Given the description of an element on the screen output the (x, y) to click on. 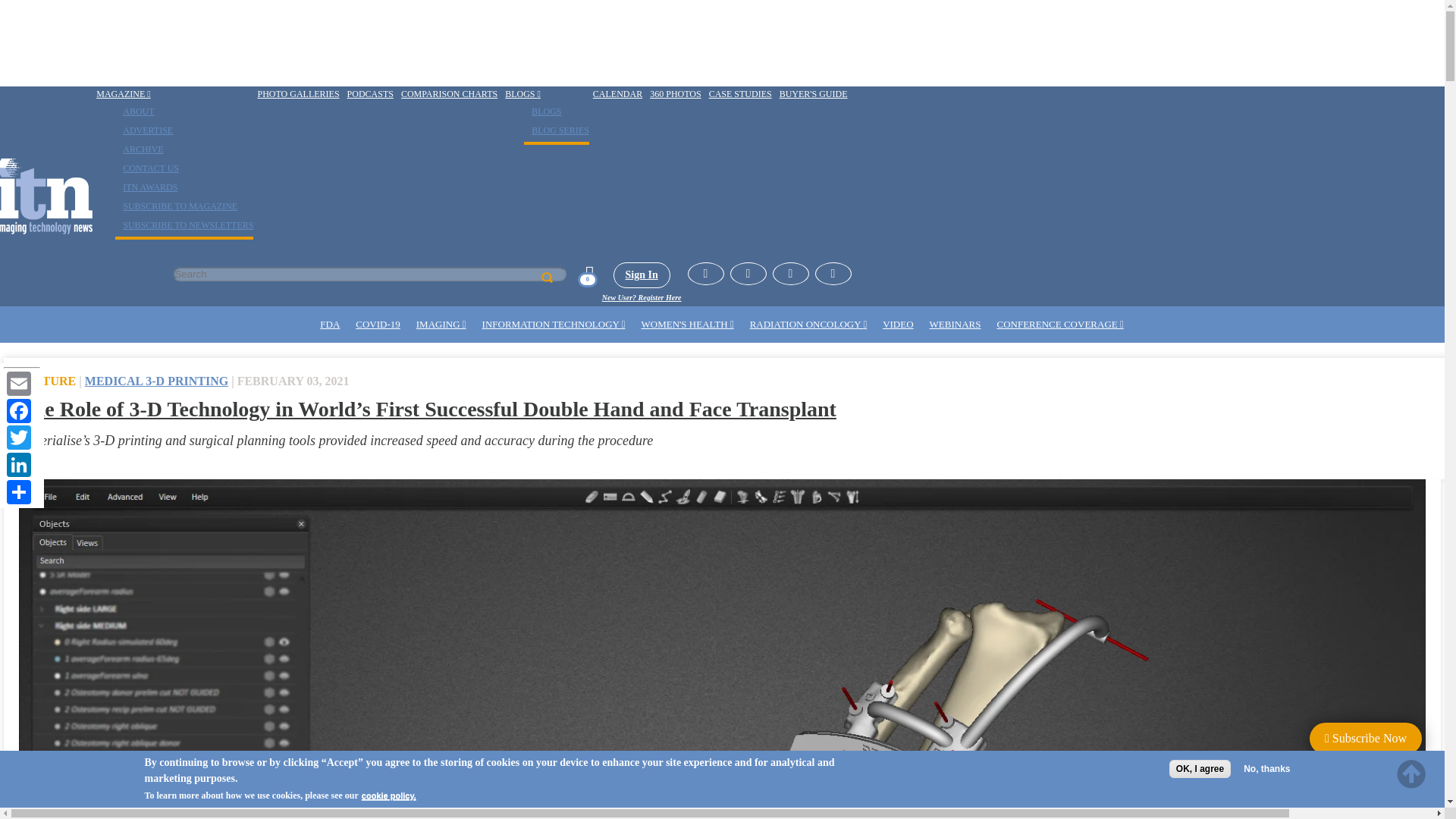
IMAGING (441, 324)
BLOGS (542, 110)
ABOUT (134, 110)
Home (46, 196)
SUBSCRIBE TO NEWSLETTERS (184, 224)
CASE STUDIES (740, 94)
PODCASTS (370, 94)
New User? Register Here (641, 297)
CONTACT US (147, 168)
FDA (330, 324)
BUYER'S GUIDE (813, 94)
Sign In (640, 275)
SUBSCRIBE TO MAGAZINE (176, 205)
BLOG SERIES (556, 130)
